Given the description of an element on the screen output the (x, y) to click on. 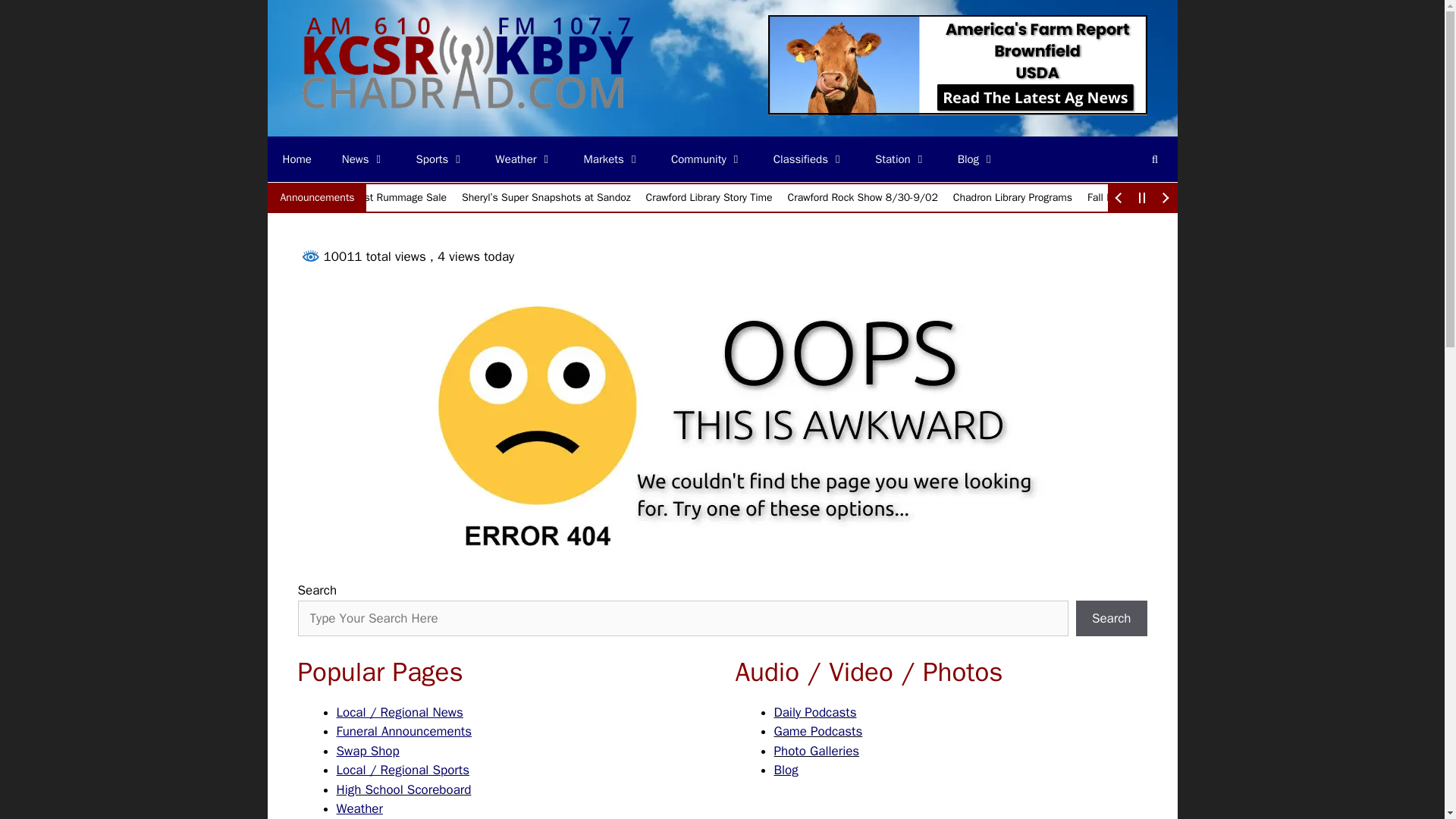
Home (296, 158)
News (363, 158)
Weather (523, 158)
Markets (612, 158)
Sports (440, 158)
Community (707, 158)
